Given the description of an element on the screen output the (x, y) to click on. 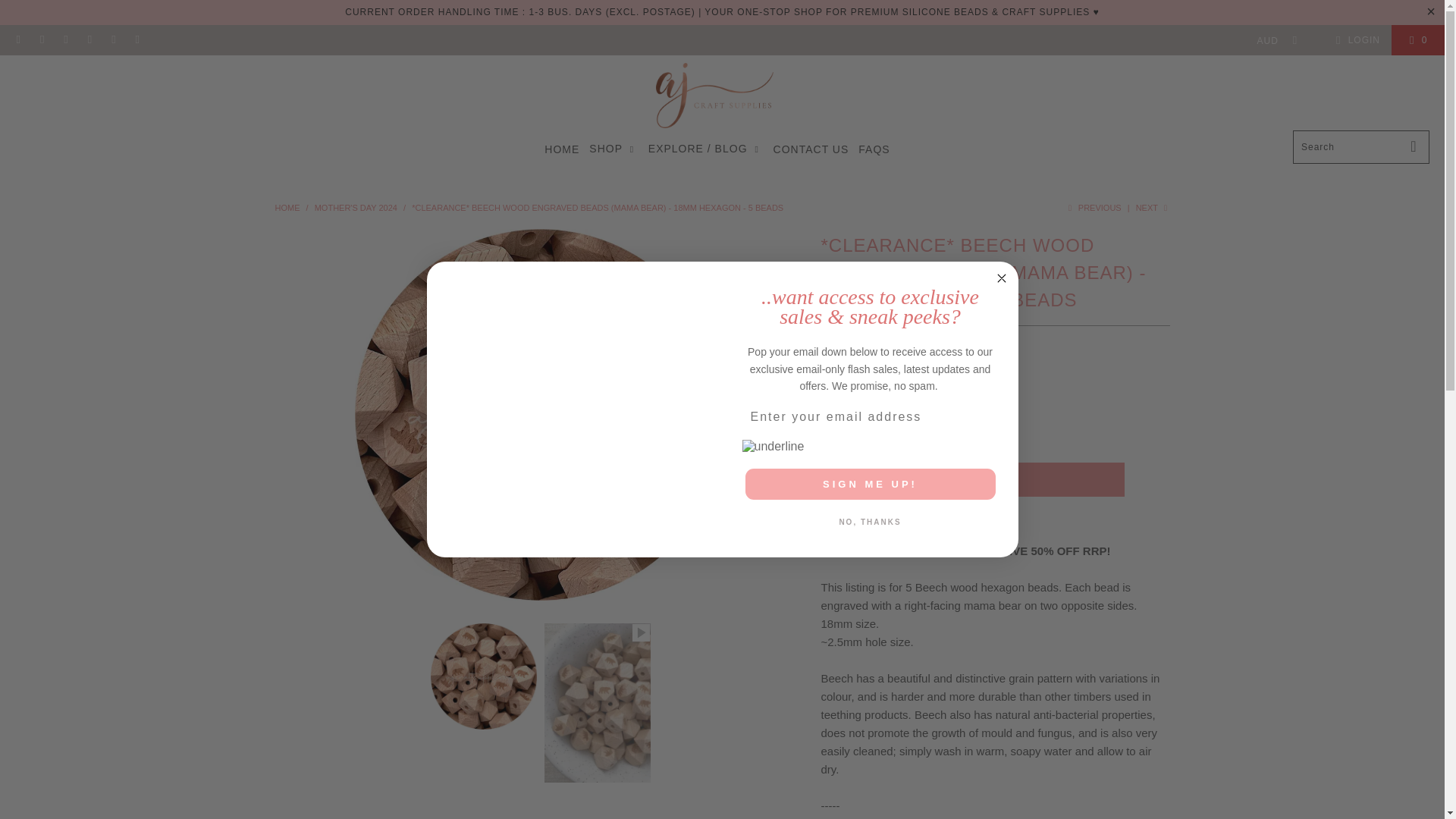
AJ Craft Supplies on Pinterest (89, 40)
AJ Craft Supplies on TikTok (112, 40)
Next (1152, 207)
My Account  (1355, 40)
AJ Craft Supplies (714, 96)
AJ Craft Supplies on Instagram (65, 40)
Mother's Day 2024 (355, 207)
Previous (1092, 207)
AJ Craft Supplies on Facebook (41, 40)
1 (891, 436)
Email AJ Craft Supplies (17, 40)
AJ Craft Supplies on YouTube (136, 40)
AJ Craft Supplies (287, 207)
